Given the description of an element on the screen output the (x, y) to click on. 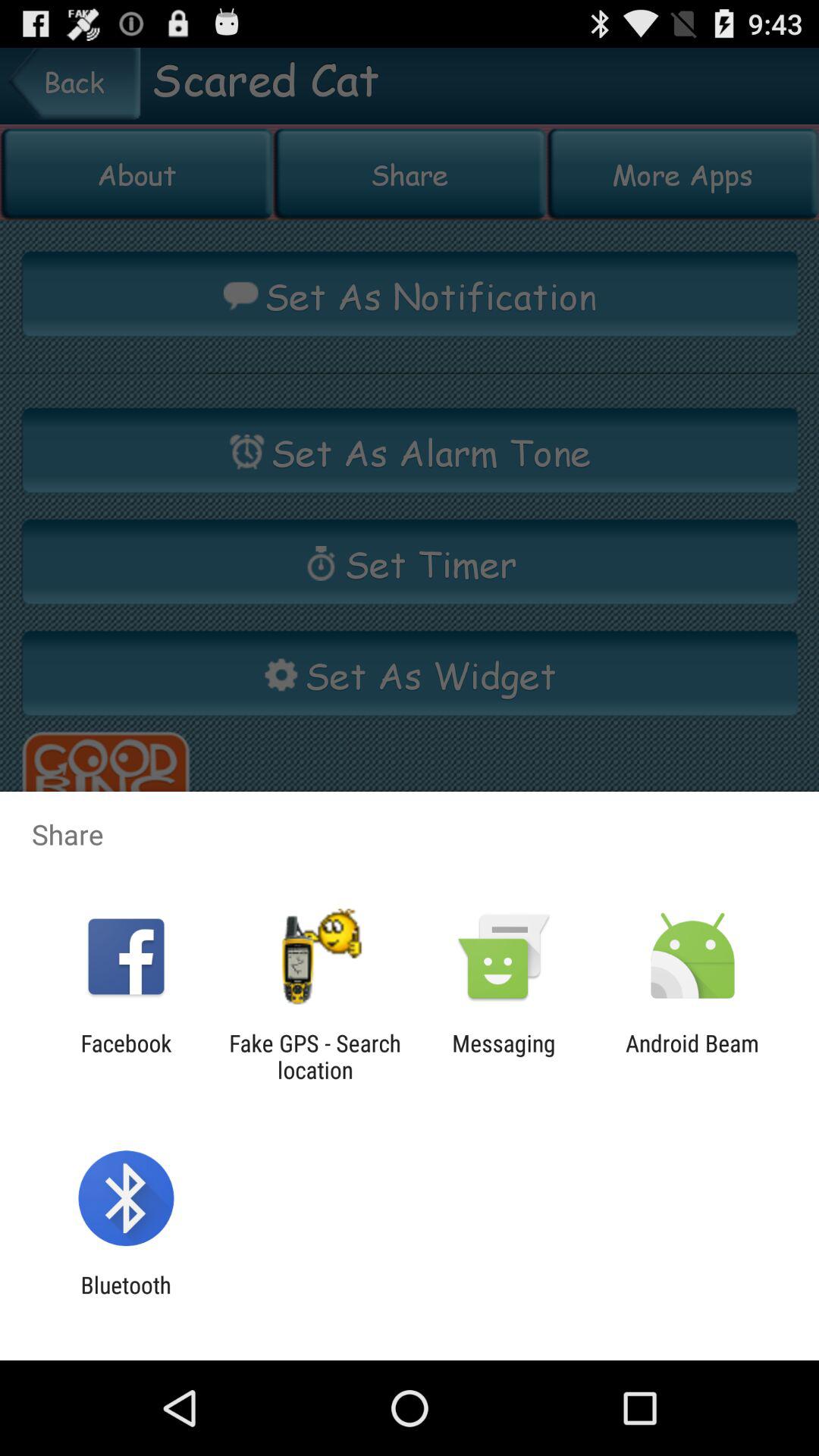
jump until the fake gps search (314, 1056)
